Given the description of an element on the screen output the (x, y) to click on. 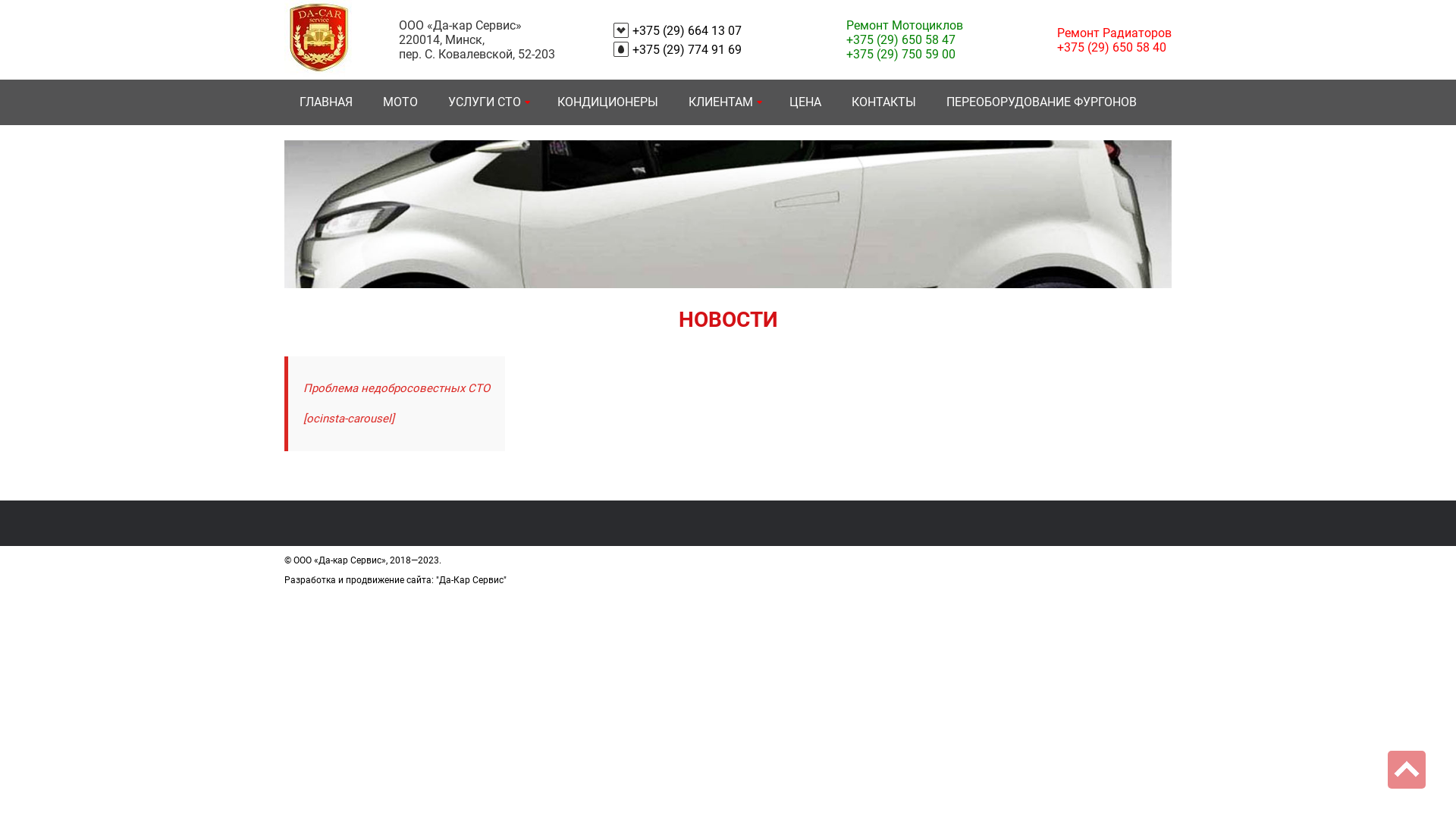
+375 (29) 774 91 69 Element type: text (686, 49)
+375 (29) 664 13 07 Element type: text (686, 29)
